Given the description of an element on the screen output the (x, y) to click on. 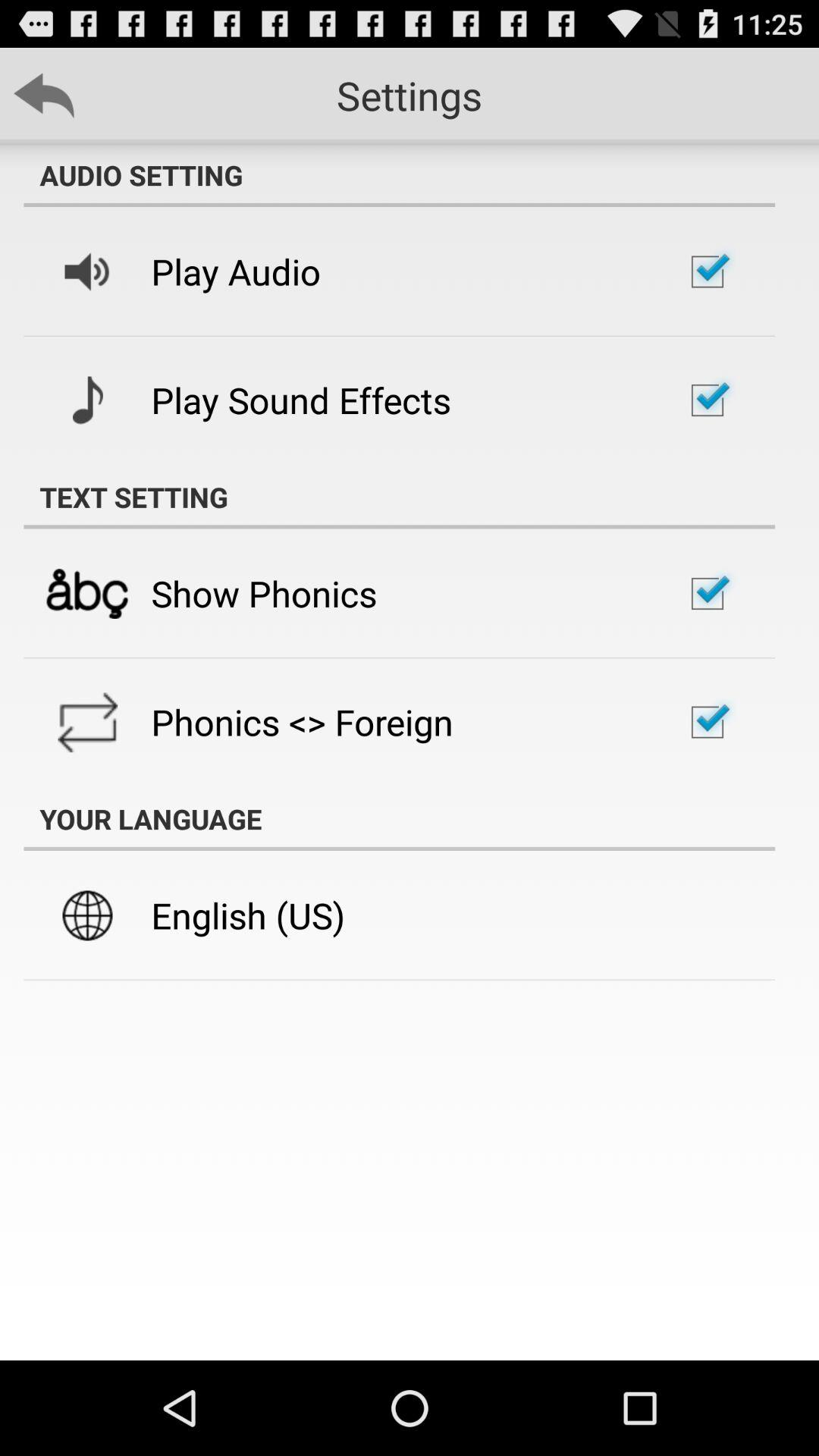
choose the app below audio setting (235, 271)
